Given the description of an element on the screen output the (x, y) to click on. 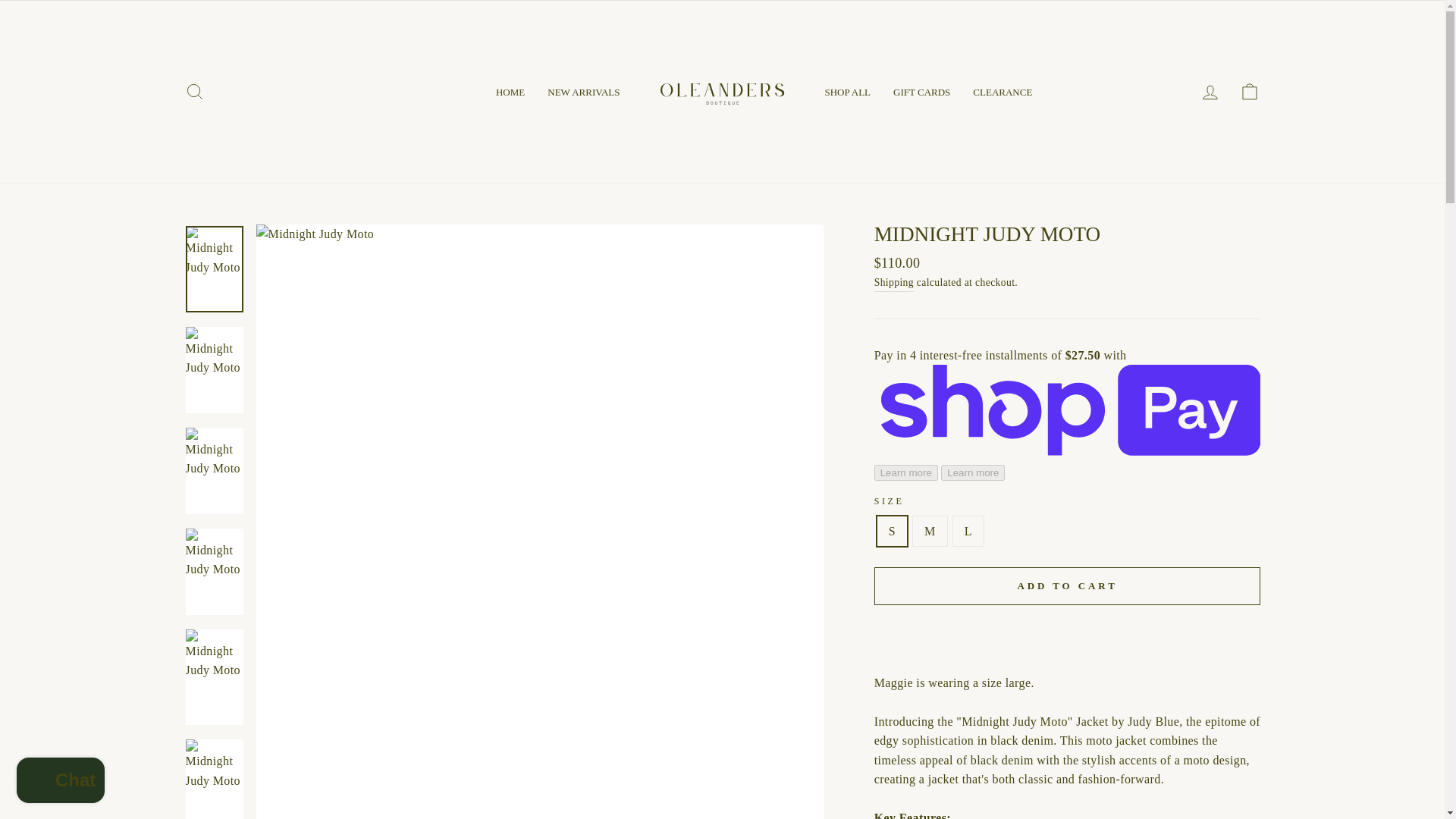
NEW ARRIVALS (582, 91)
SHOP ALL (847, 91)
Shopify online store chat (60, 781)
HOME (509, 91)
SEARCH (194, 92)
